Given the description of an element on the screen output the (x, y) to click on. 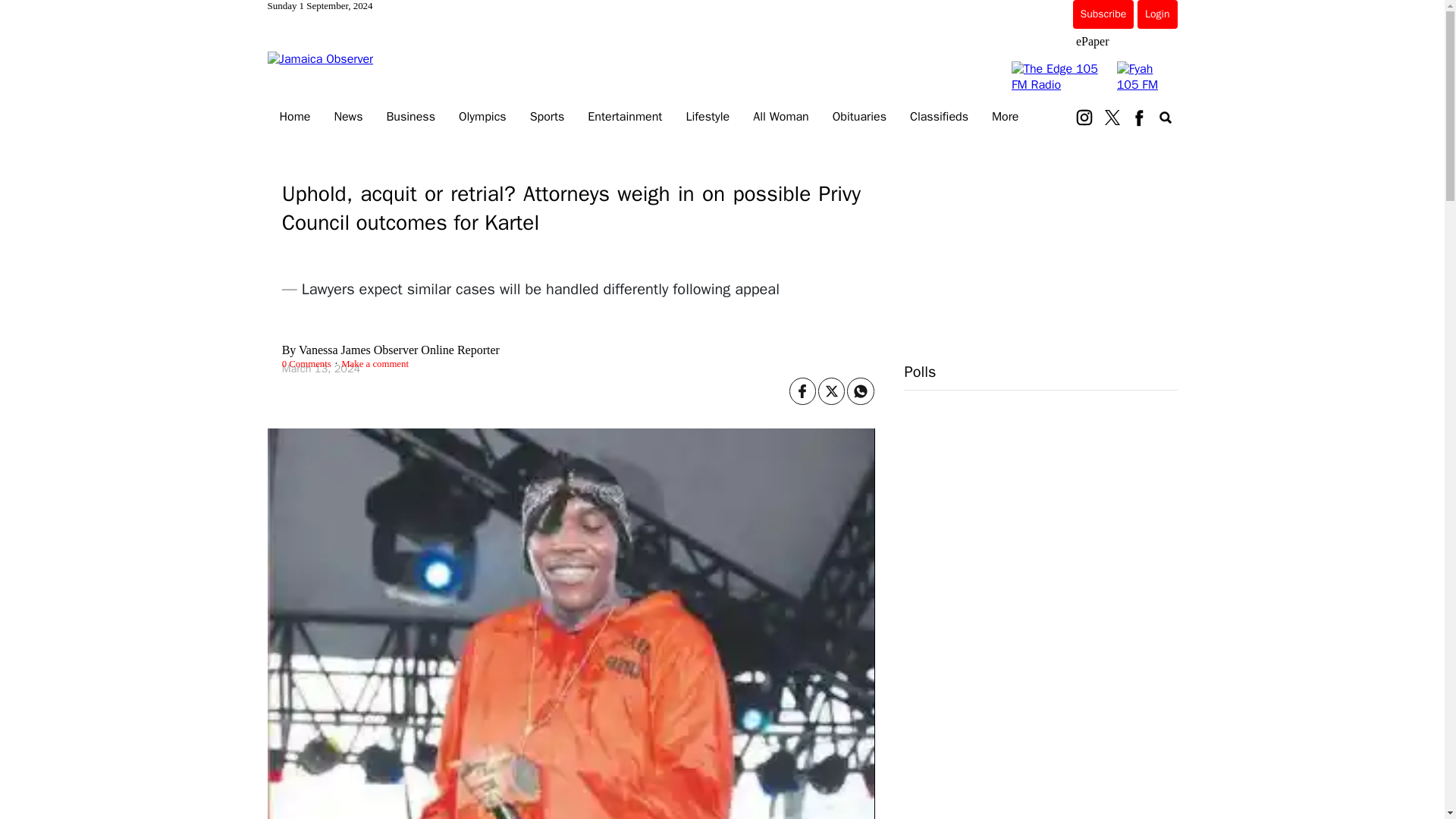
Subscribe (1103, 14)
ePaper (1092, 41)
Login (1156, 14)
